Given the description of an element on the screen output the (x, y) to click on. 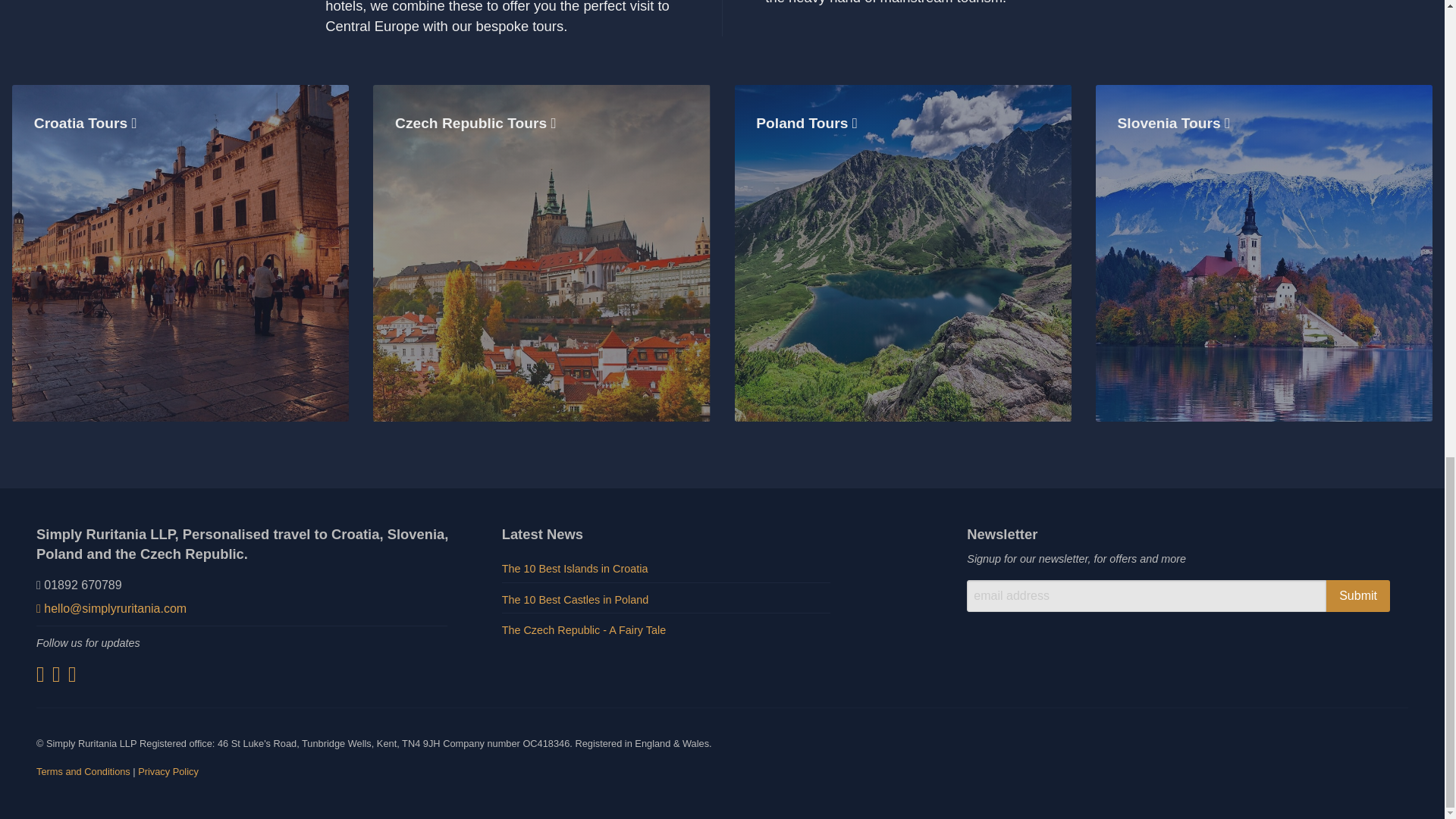
The 10 Best Castles in Poland (665, 600)
Submit (1358, 595)
The Czech Republic - A Fairy Tale (665, 630)
Terms and Conditions (83, 771)
The 10 Best Islands in Croatia (665, 569)
Submit (1358, 595)
Privacy Policy (168, 771)
